Given the description of an element on the screen output the (x, y) to click on. 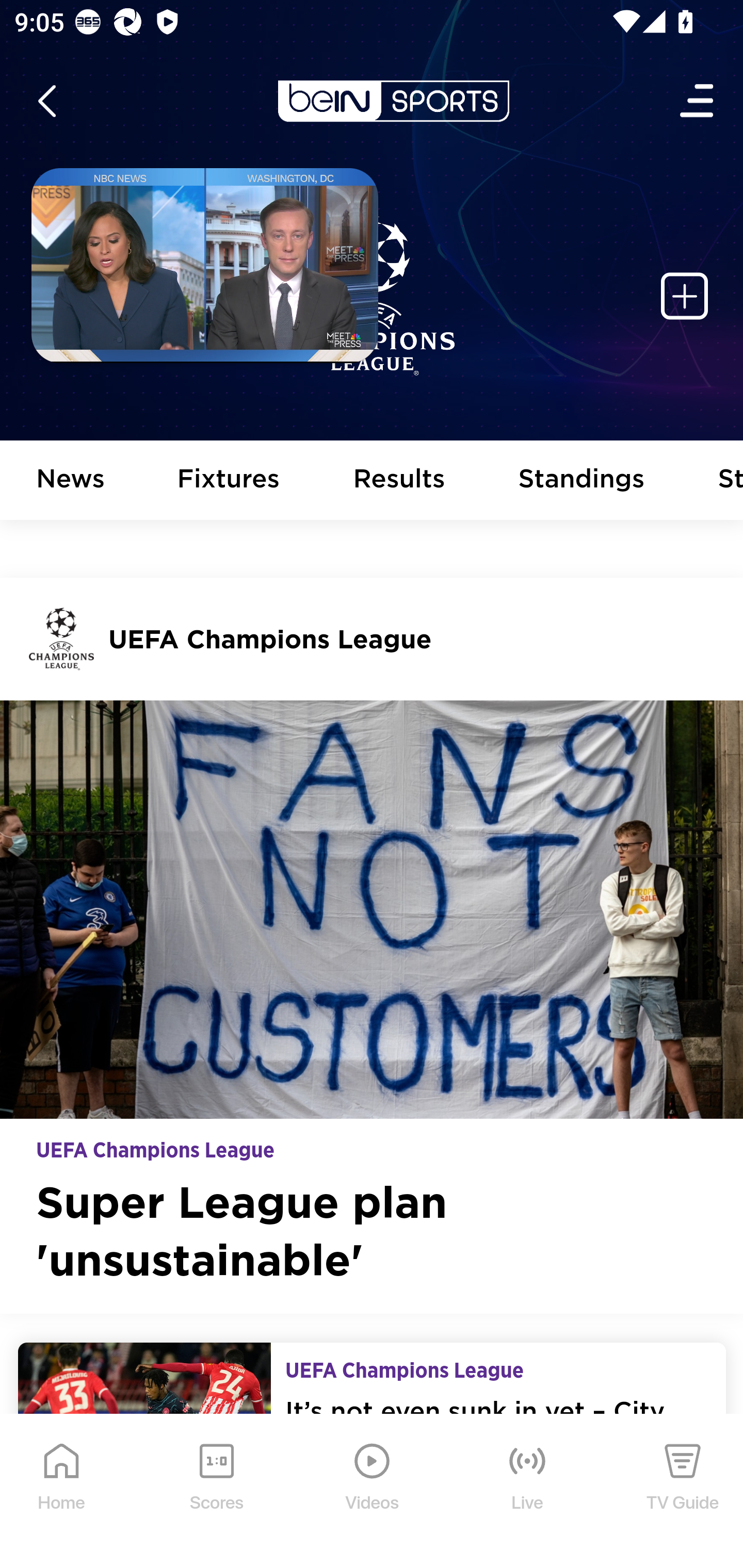
en-my?platform=mobile_android bein logo white (392, 101)
icon back (46, 101)
Open Menu Icon (697, 101)
News (70, 480)
Fixtures (229, 480)
Results (399, 480)
Standings (581, 480)
Home Home Icon Home (61, 1491)
Scores Scores Icon Scores (216, 1491)
Videos Videos Icon Videos (372, 1491)
TV Guide TV Guide Icon TV Guide (682, 1491)
